Given the description of an element on the screen output the (x, y) to click on. 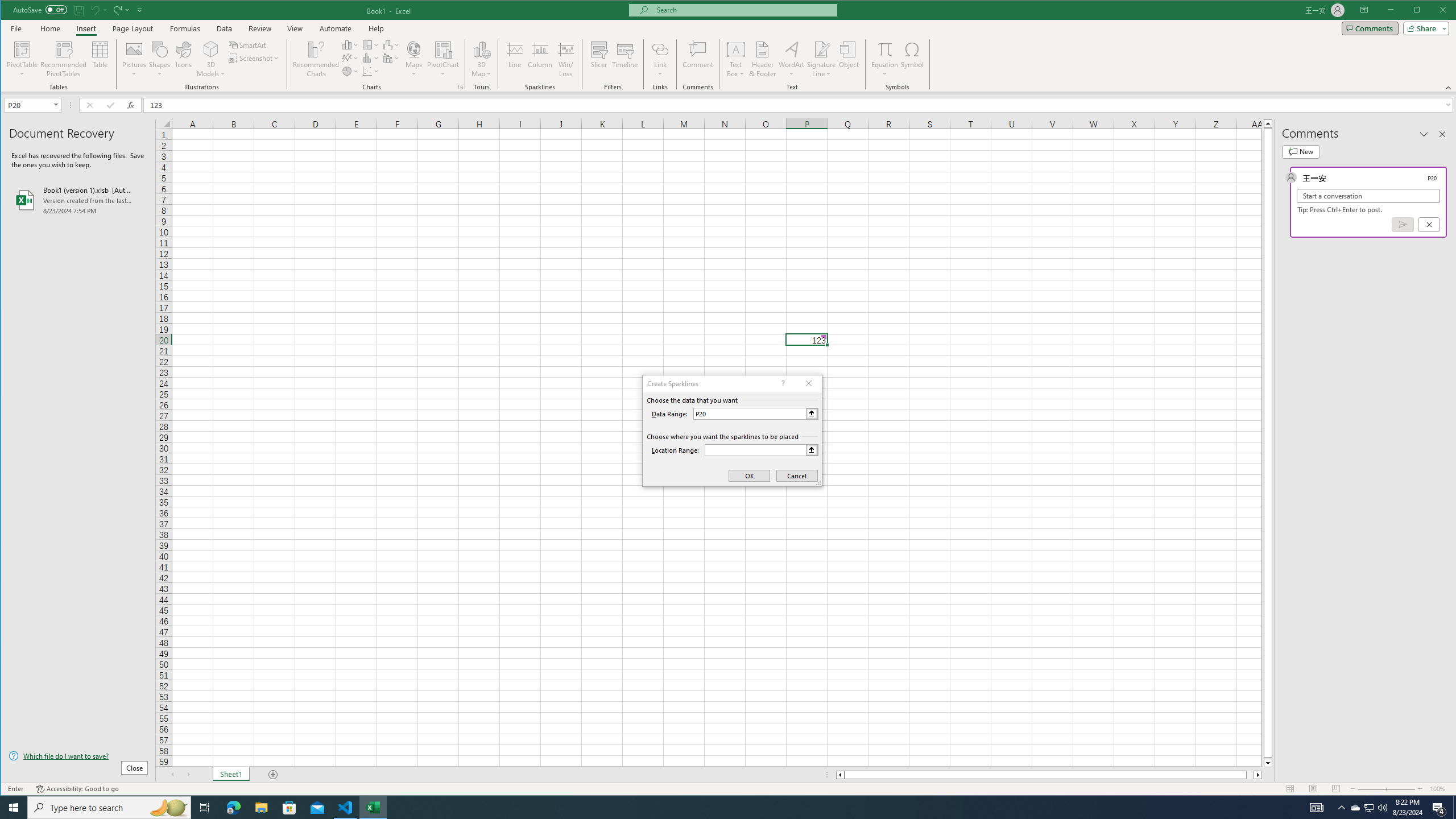
Comment (697, 59)
Insert Pie or Doughnut Chart (350, 70)
PivotChart (443, 48)
Column (540, 59)
Screenshot (254, 57)
Signature Line (821, 48)
Equation (884, 48)
